Given the description of an element on the screen output the (x, y) to click on. 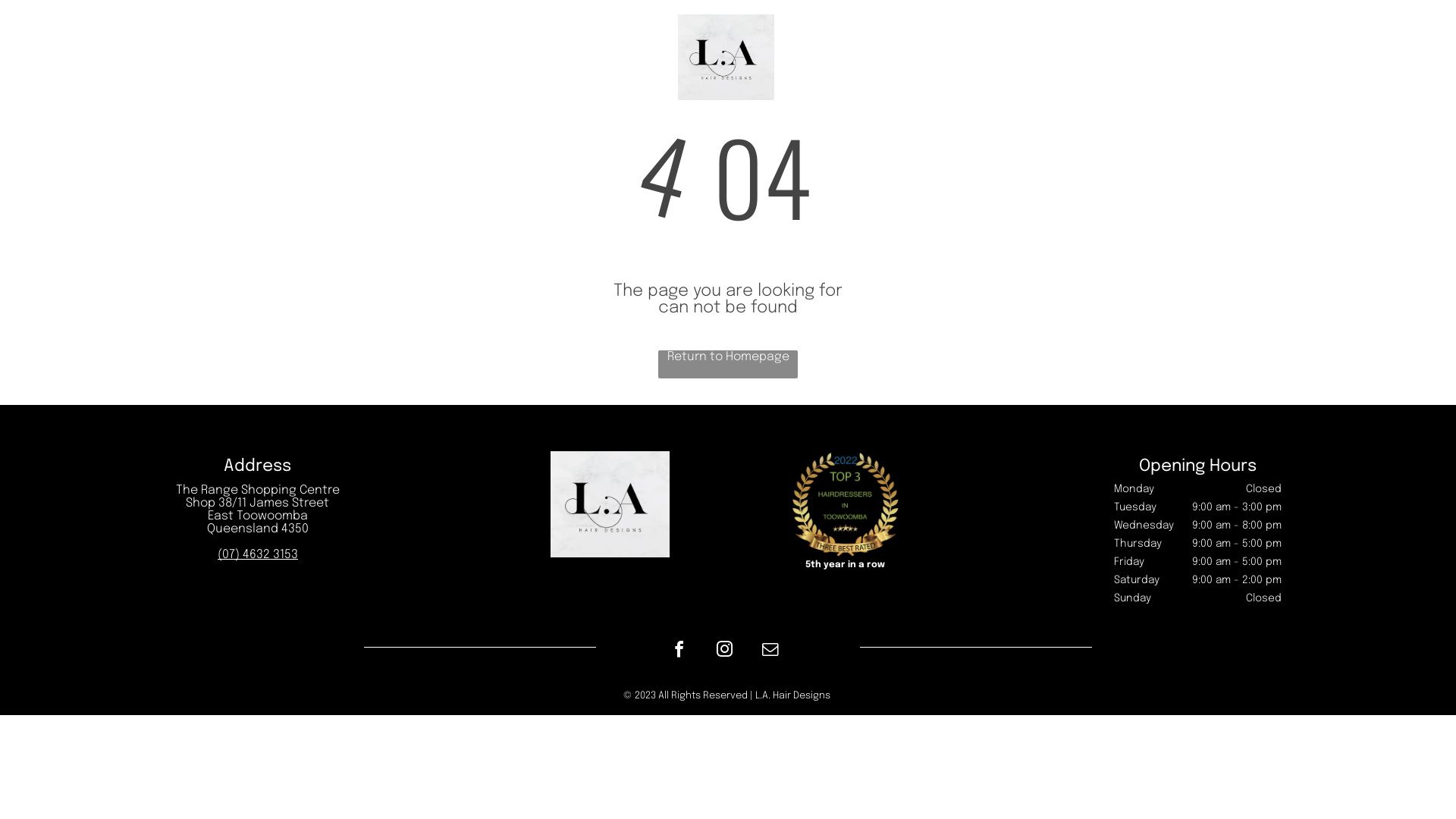
CONTACT Element type: text (870, 56)
ABOUT Element type: text (806, 56)
Return to Homepage Element type: text (727, 364)
SERVICES Element type: text (583, 56)
BLOG Element type: text (649, 56)
(07) 4632 3153 Element type: text (257, 554)
